Given the description of an element on the screen output the (x, y) to click on. 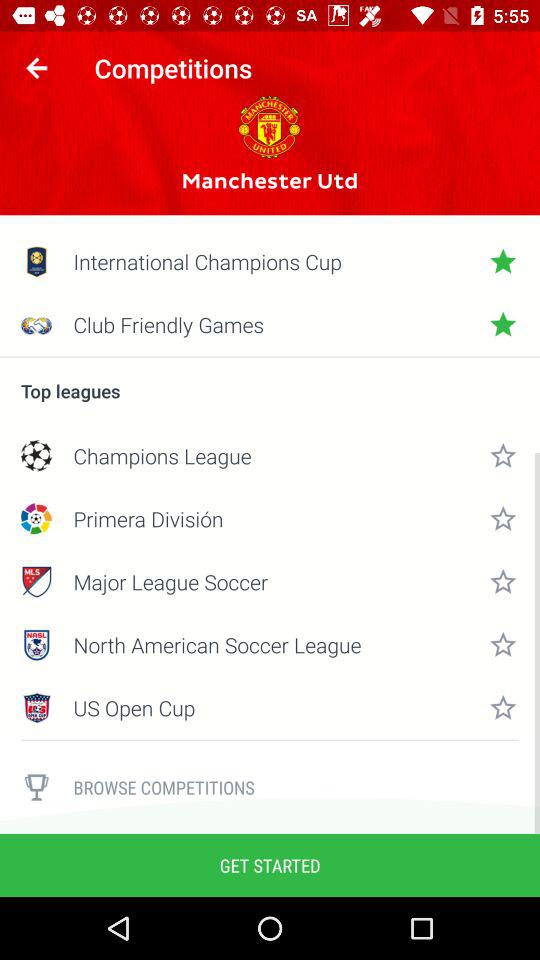
press icon above major league soccer (269, 518)
